Given the description of an element on the screen output the (x, y) to click on. 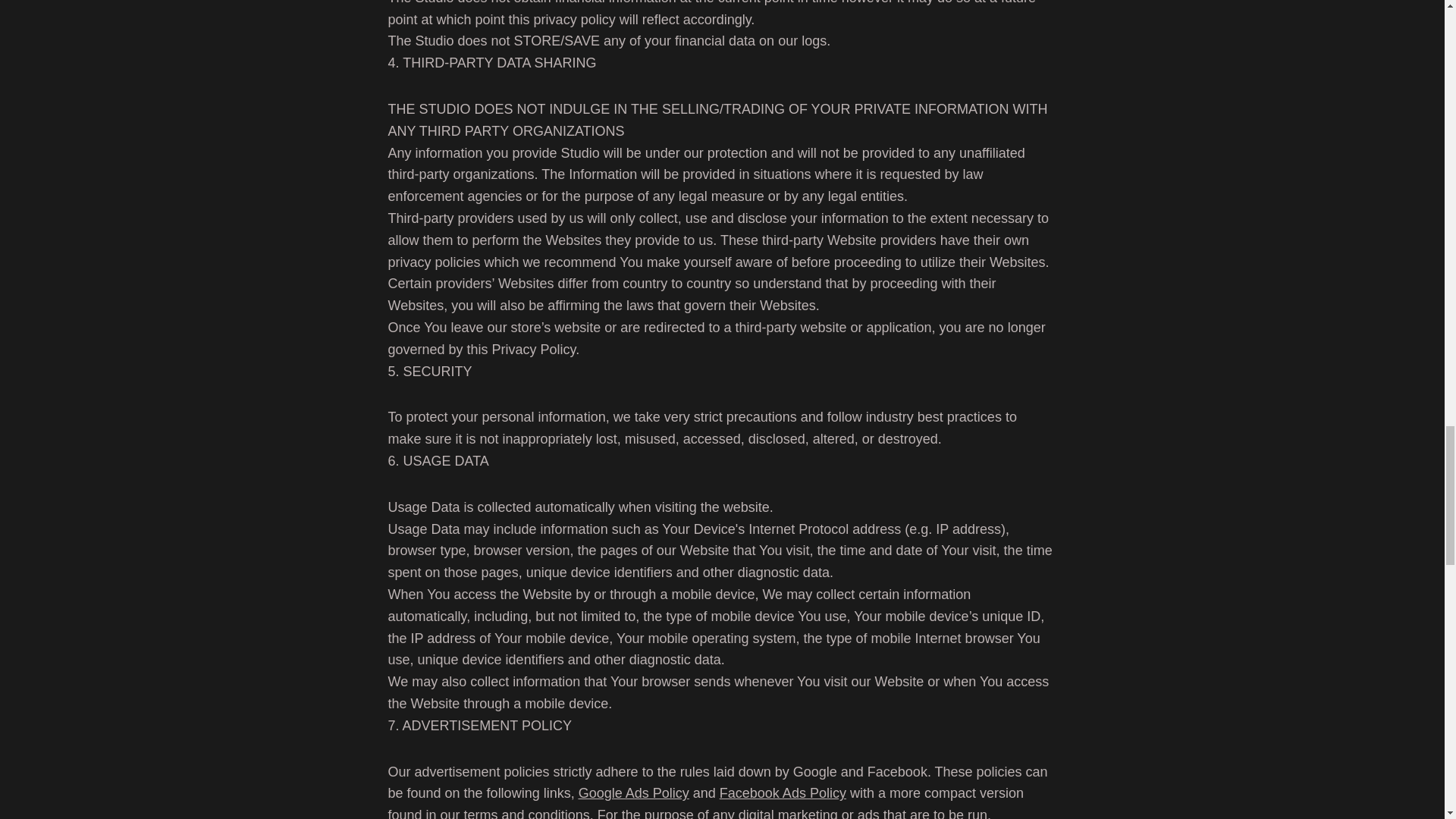
Google Ads Policy (633, 792)
Facebook Ads Policy (782, 792)
